Given the description of an element on the screen output the (x, y) to click on. 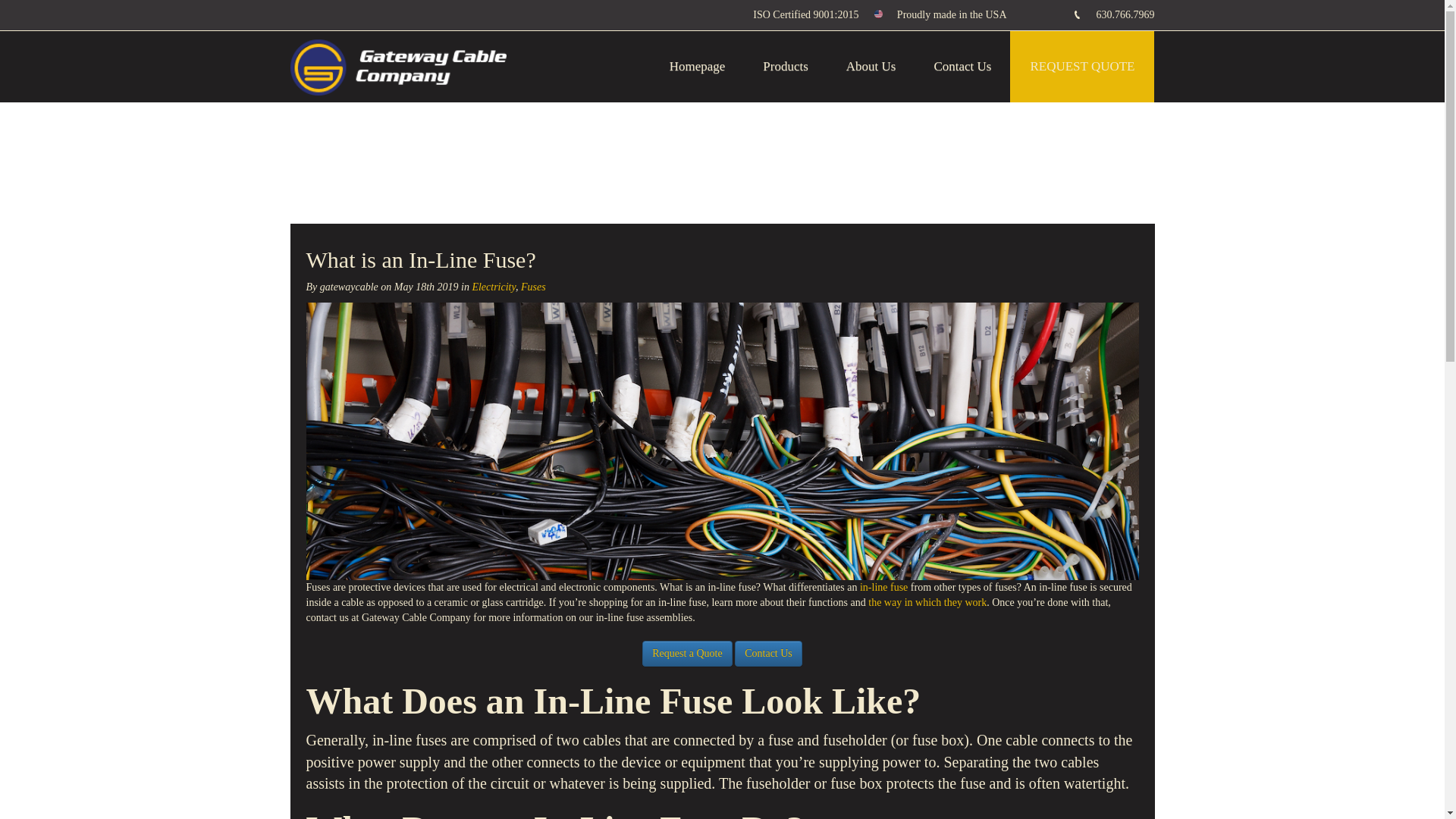
Homepage (697, 66)
630.766.7969 (1125, 14)
the way in which they work (927, 602)
Request a Quote (687, 653)
in-line fuse (883, 586)
Contact Us (962, 66)
Fuses (533, 286)
Products (785, 66)
About Us (871, 66)
Electricity (493, 286)
